Given the description of an element on the screen output the (x, y) to click on. 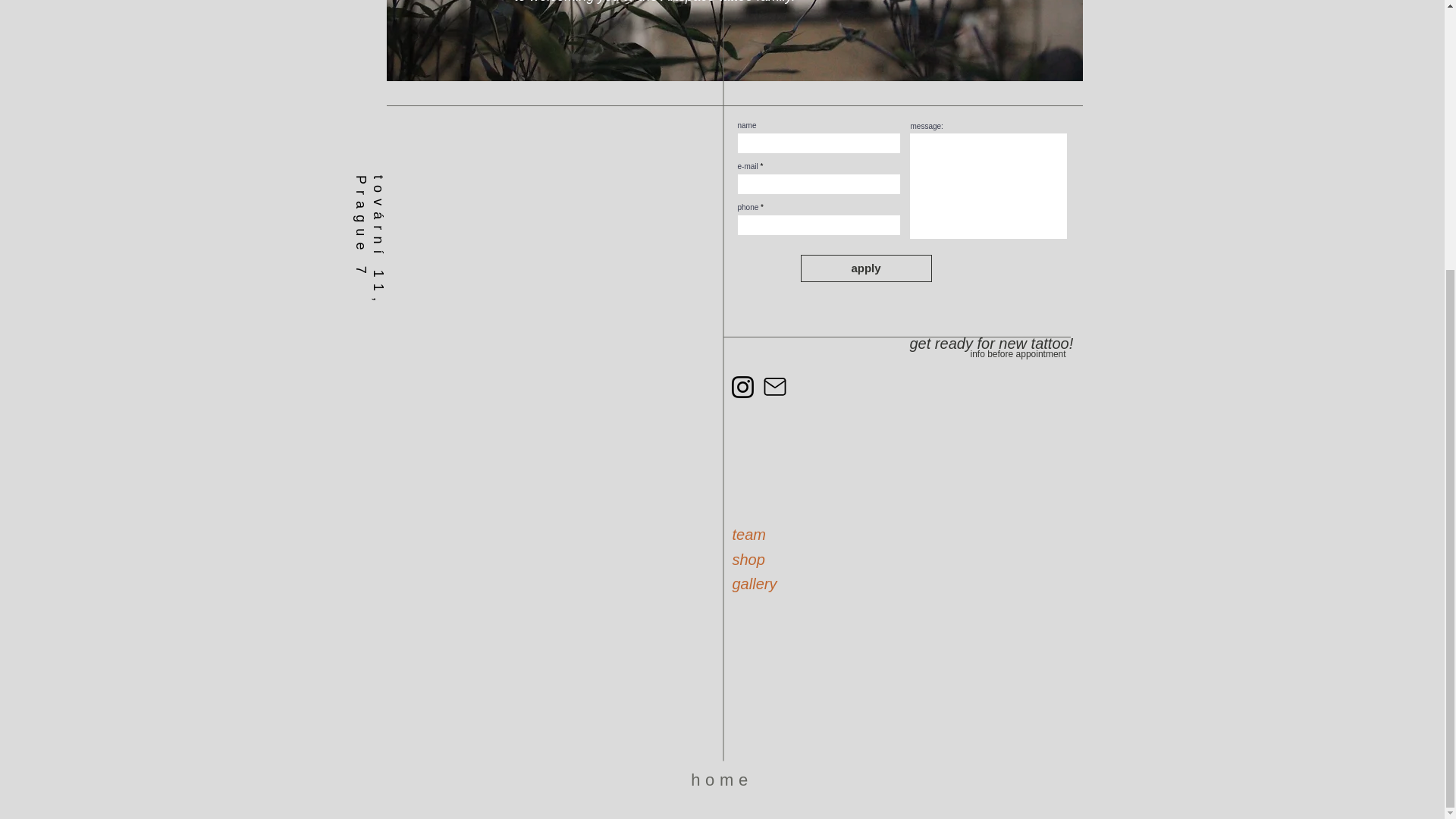
home (721, 779)
team (748, 534)
shop (748, 559)
apply (865, 267)
